Given the description of an element on the screen output the (x, y) to click on. 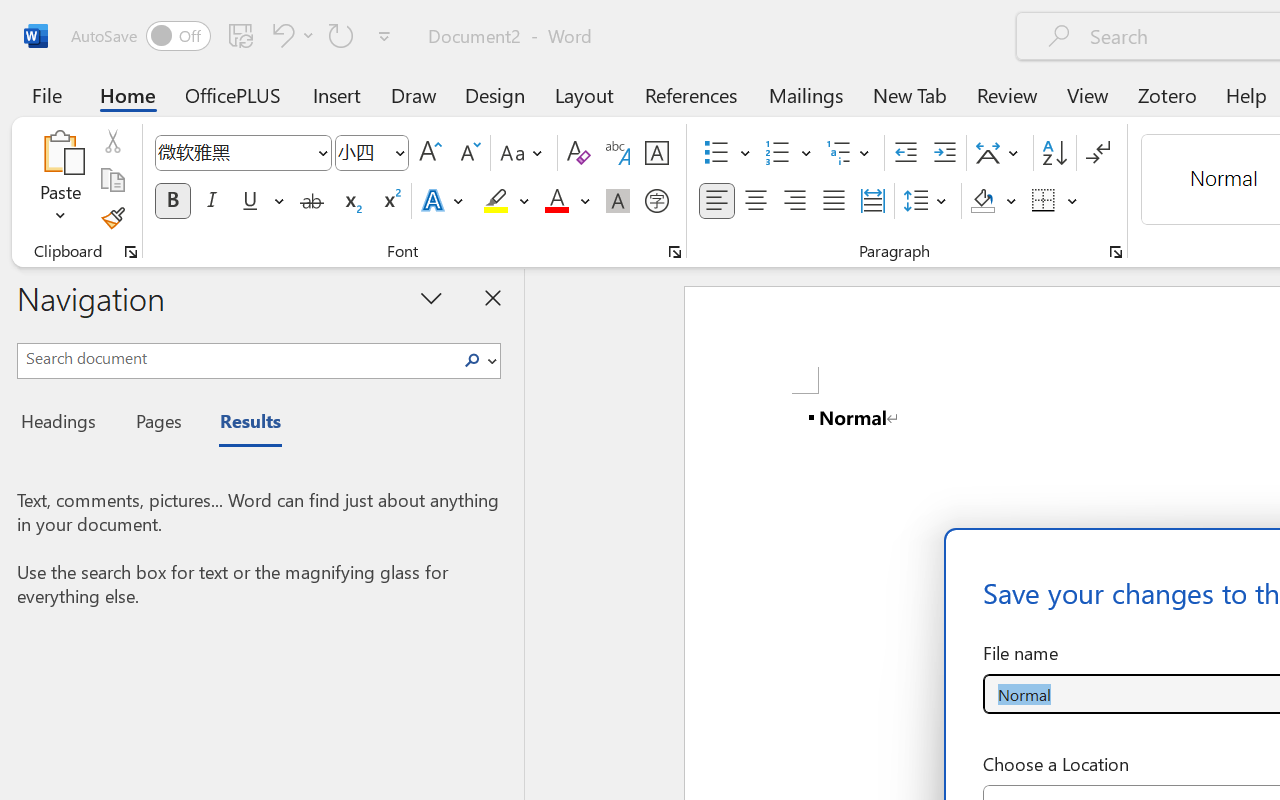
Font (234, 152)
Search (478, 360)
Superscript (390, 201)
Pages (156, 424)
Underline (261, 201)
Task Pane Options (431, 297)
Save (241, 35)
Subscript (350, 201)
Font Color (567, 201)
Show/Hide Editing Marks (1098, 153)
Increase Indent (944, 153)
Mailings (806, 94)
Text Effects and Typography (444, 201)
Character Border (656, 153)
Text Highlight Color (506, 201)
